Given the description of an element on the screen output the (x, y) to click on. 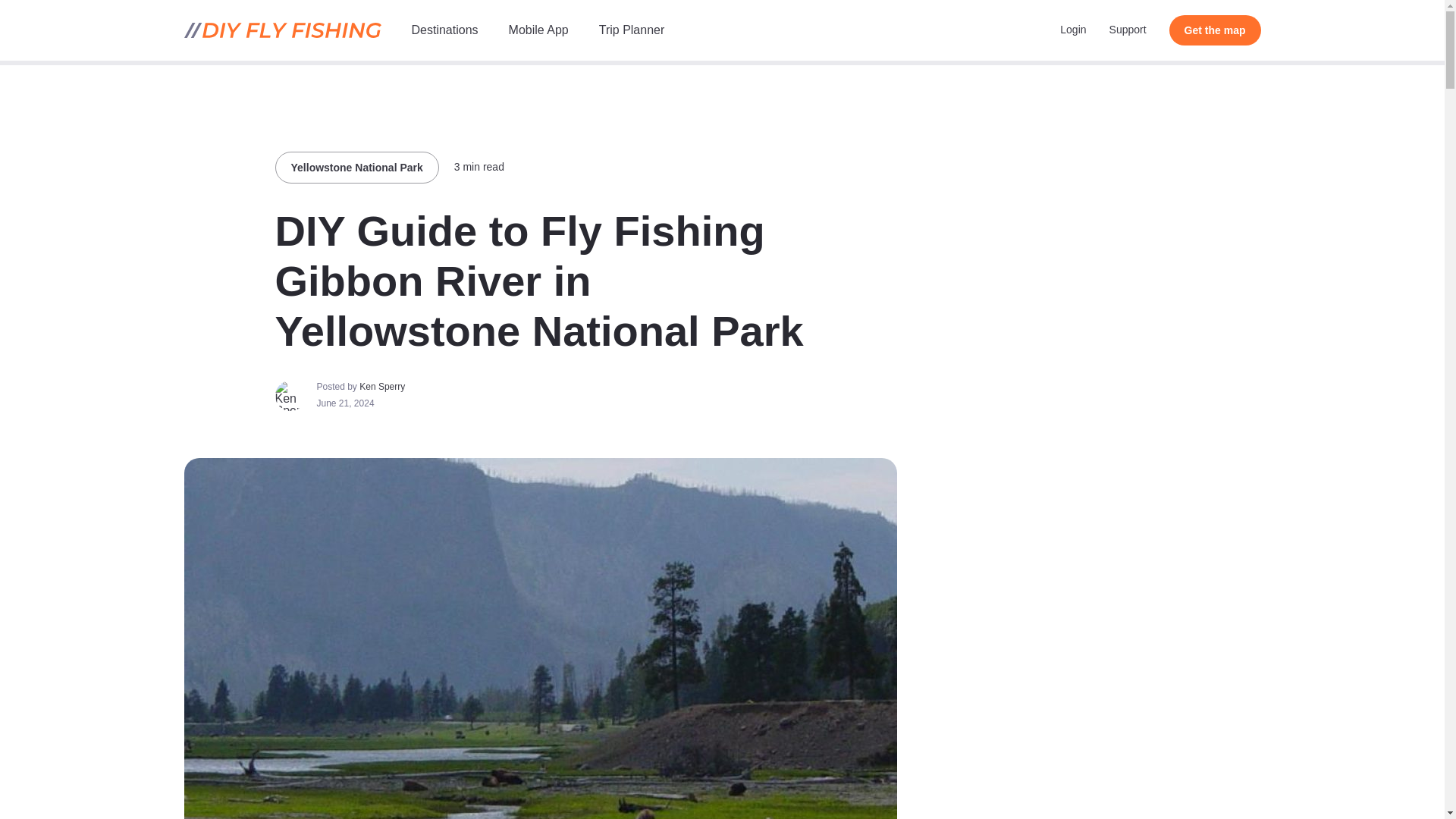
Login (1072, 29)
Support (1128, 29)
Ken Sperry (381, 386)
Get the map (1214, 30)
Destinations (443, 29)
Mobile App (538, 29)
Yellowstone National Park (356, 167)
Trip Planner (631, 29)
